Given the description of an element on the screen output the (x, y) to click on. 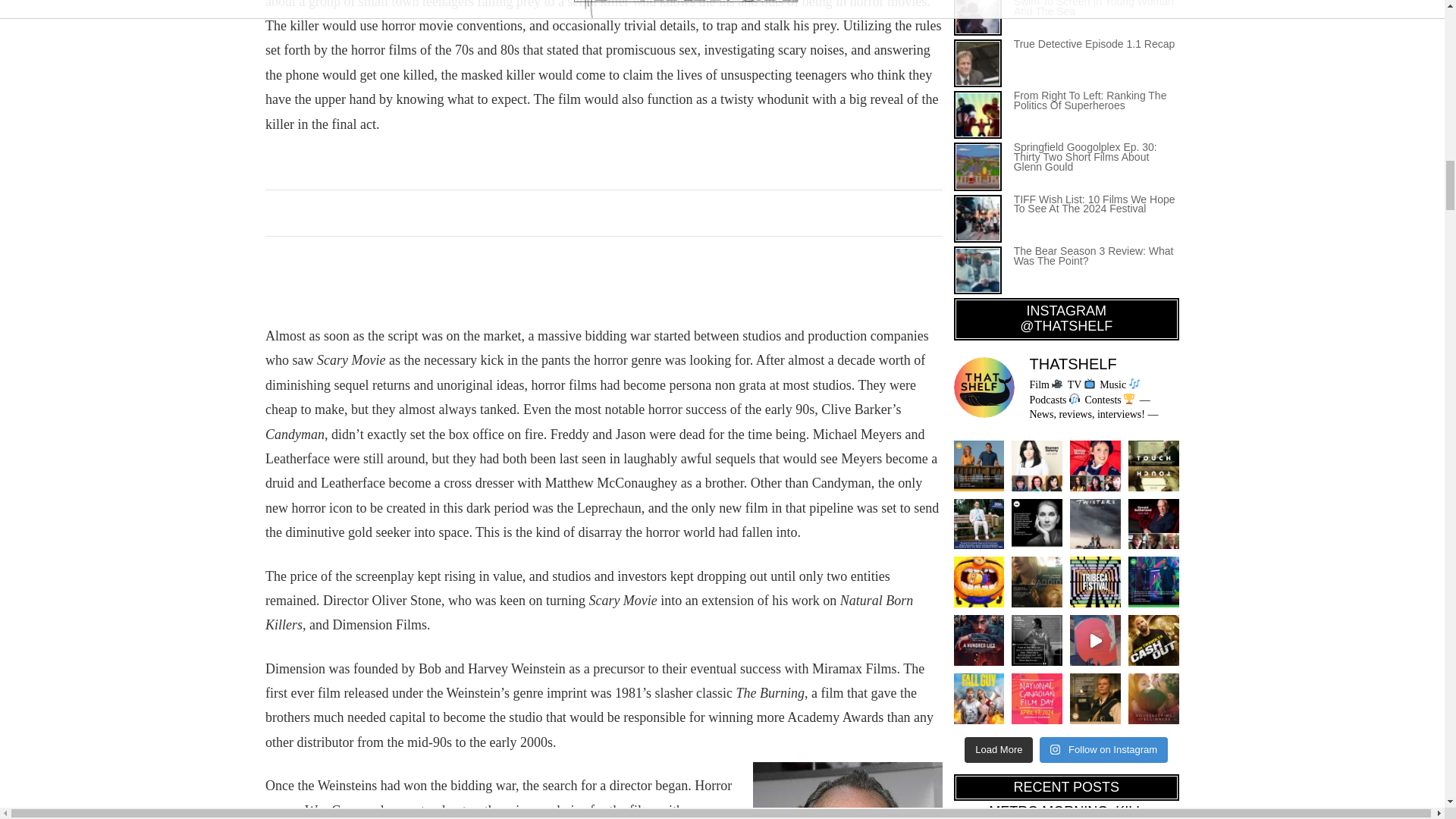
Wes Craven - Director of Scream (847, 790)
